Given the description of an element on the screen output the (x, y) to click on. 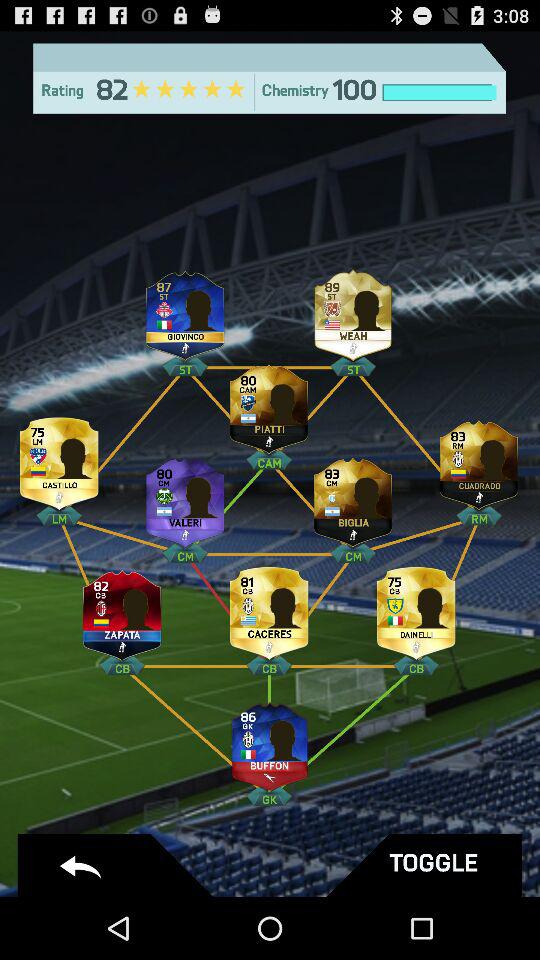
select player with 80 points (269, 404)
